Given the description of an element on the screen output the (x, y) to click on. 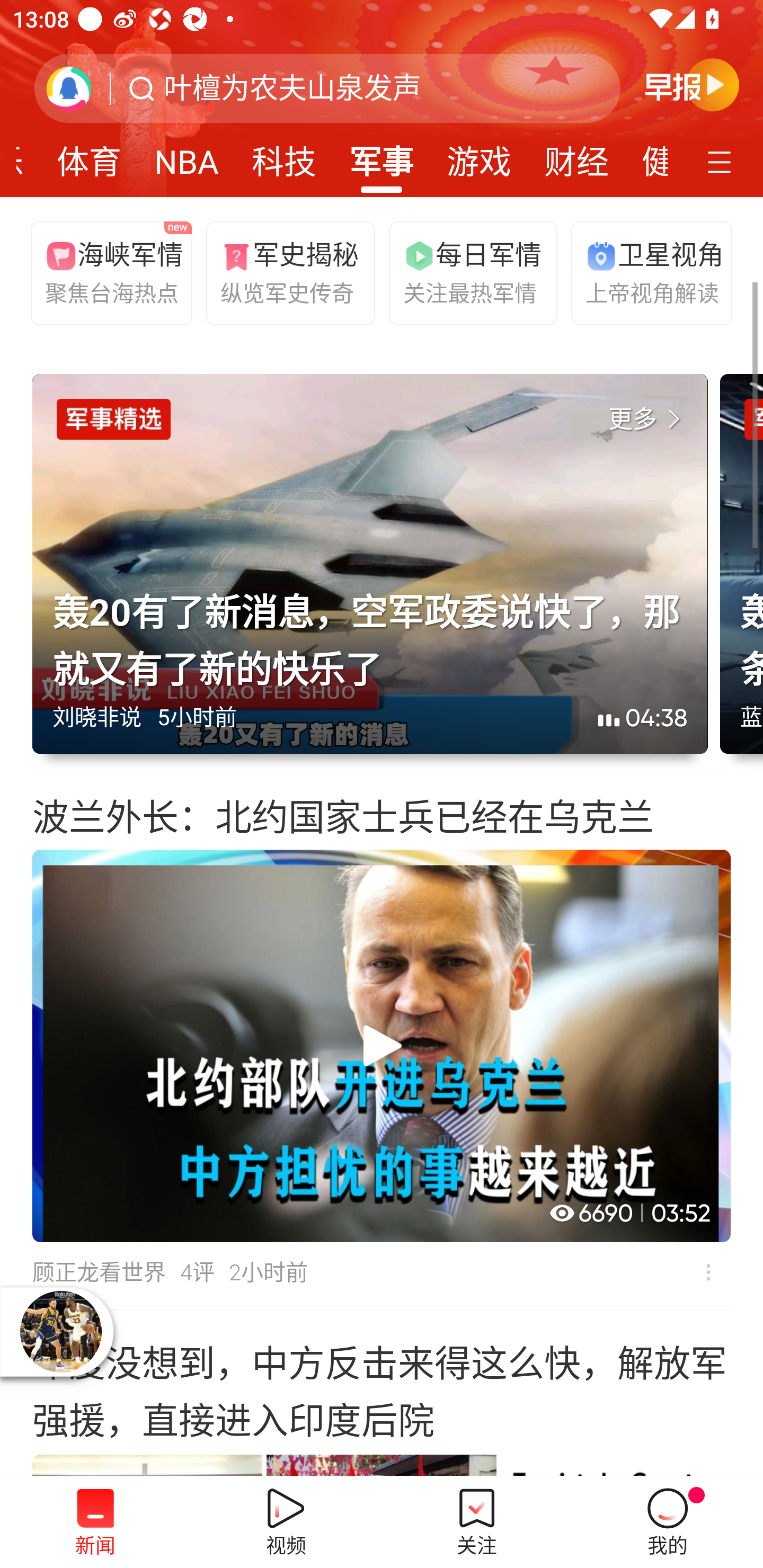
早晚报 (691, 84)
刷新 (68, 88)
叶檀为农夫山泉发声 (292, 88)
体育 (89, 155)
NBA (186, 155)
科技 (283, 155)
军事 (381, 155)
游戏 (478, 155)
财经 (575, 155)
 定制频道 (721, 160)
海峡军情 聚焦台海热点 (106, 272)
军史揭秘 纵览军史传奇 (282, 272)
每日军情 关注最热军情 (465, 272)
卫星视角 上帝视角解读 (647, 272)
更多  (648, 419)
 不感兴趣 (707, 1272)
播放器 (60, 1331)
印度没想到，中方反击来得这么快，解放军强援，直接进入印度后院 图片 图片 图片 (381, 1393)
